Given the description of an element on the screen output the (x, y) to click on. 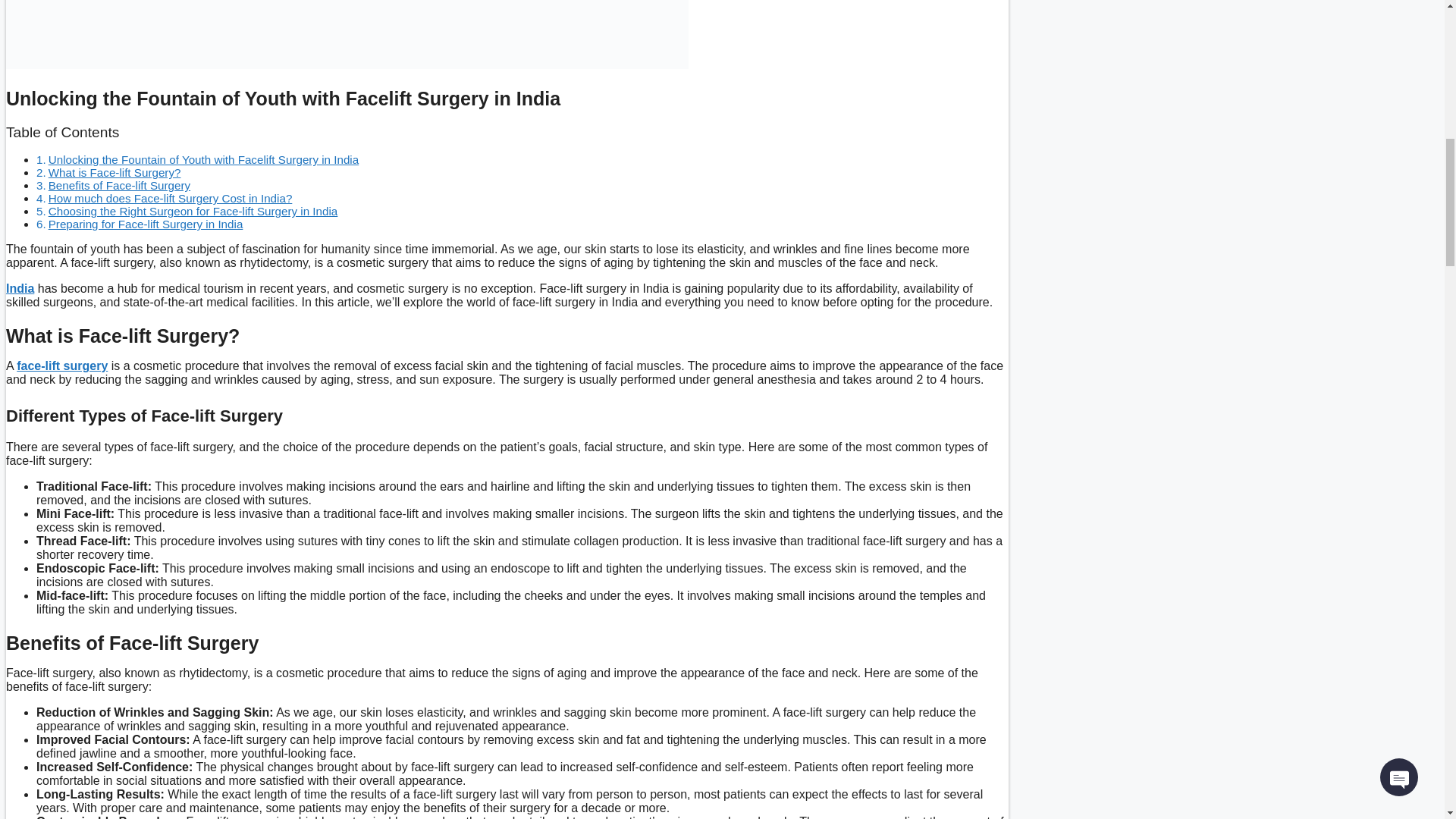
face-lift surgery (61, 365)
Preparing for Face-lift Surgery in India (145, 223)
Preparing for Face-lift Surgery in India (145, 223)
What is Face-lift Surgery? (114, 172)
Benefits of Face-lift Surgery (119, 185)
Benefits of Face-lift Surgery (119, 185)
Choosing the Right Surgeon for Face-lift Surgery in India (192, 210)
What is Face-lift Surgery? (114, 172)
